Given the description of an element on the screen output the (x, y) to click on. 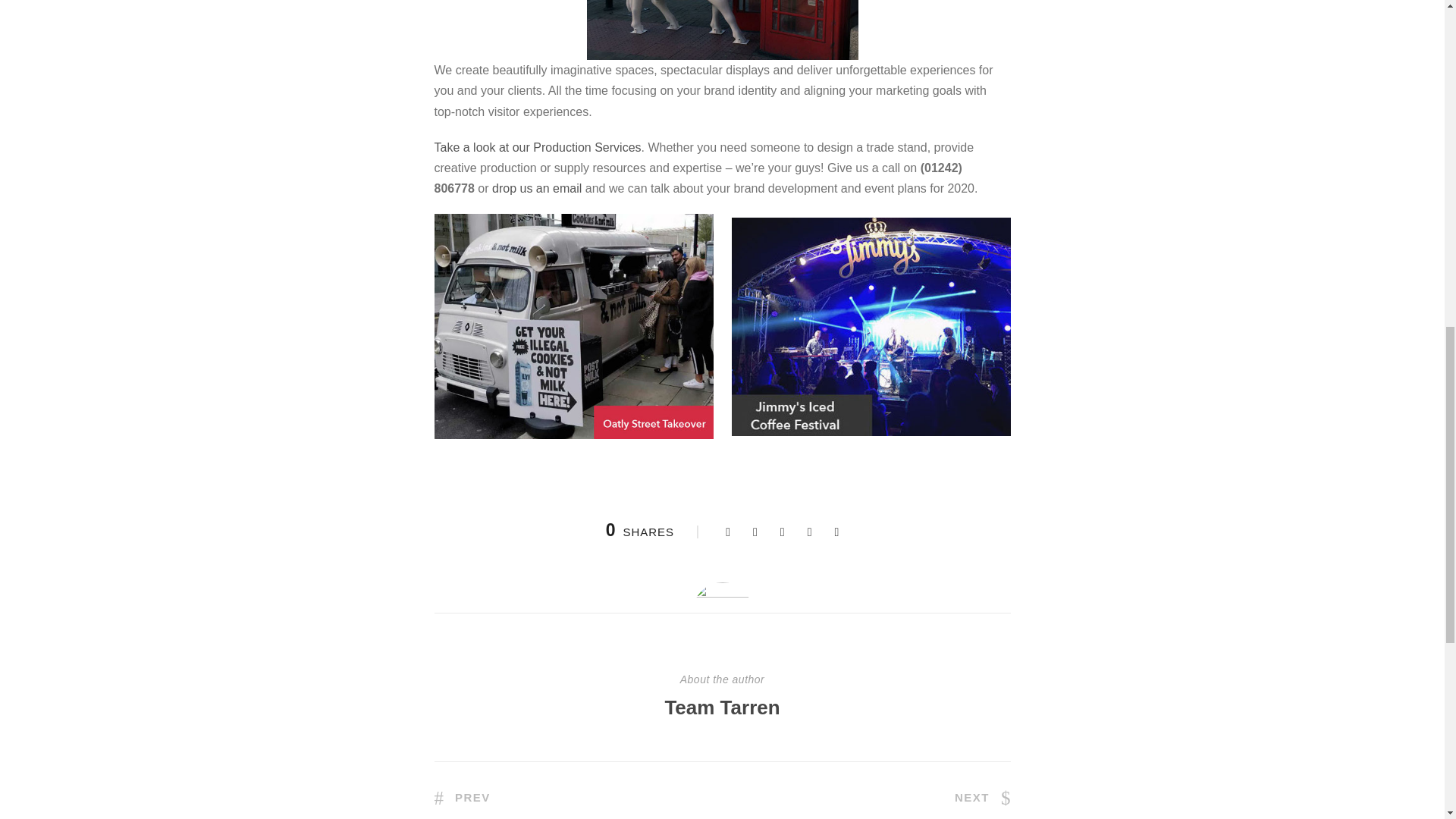
Posts by Team Tarren (720, 707)
NEXT (982, 797)
PREV (461, 797)
Team Tarren (720, 707)
drop us an email  (538, 187)
Take a look at our Production Services (536, 146)
